Given the description of an element on the screen output the (x, y) to click on. 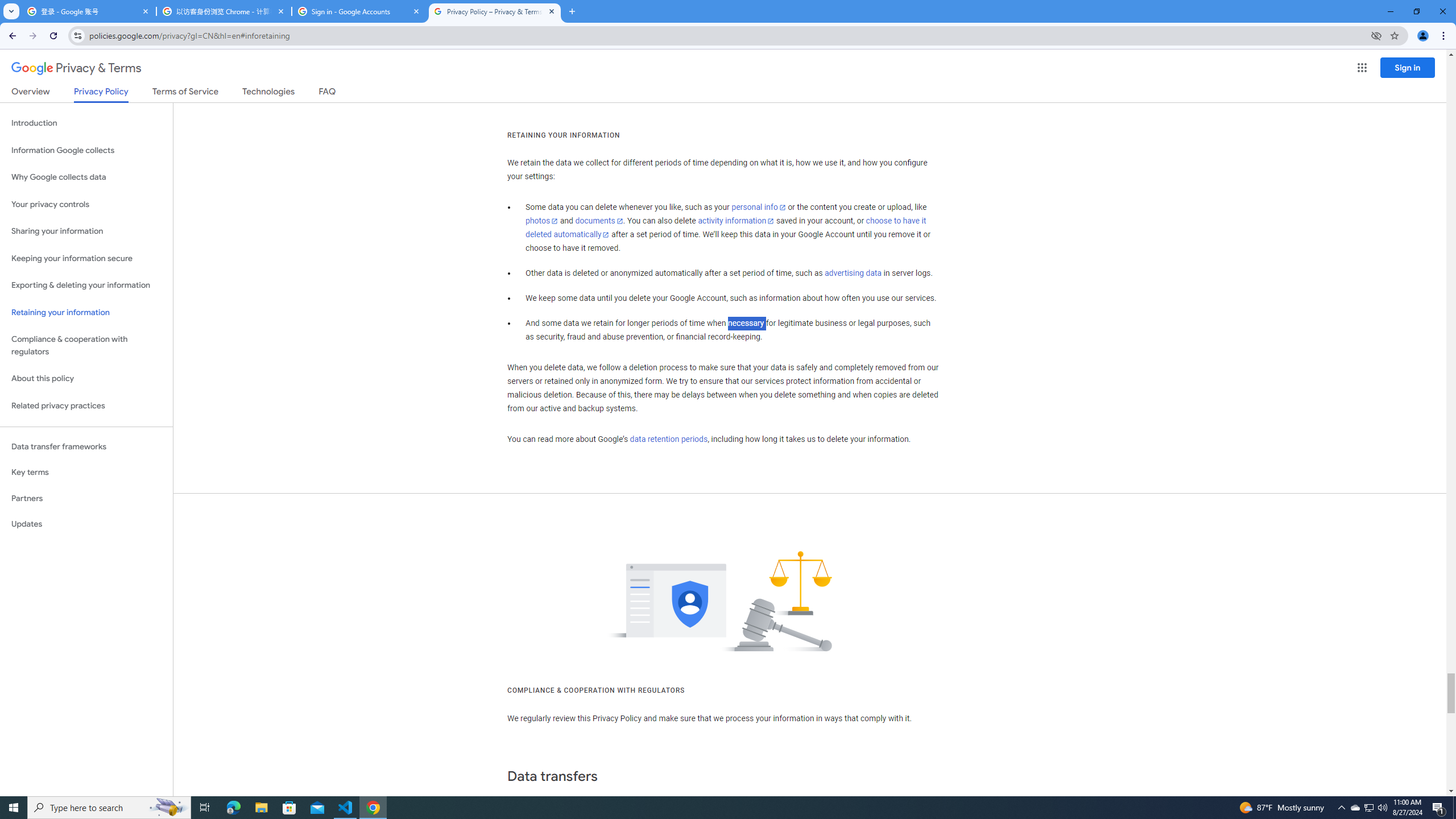
photos (542, 221)
Your privacy controls (86, 204)
